Given the description of an element on the screen output the (x, y) to click on. 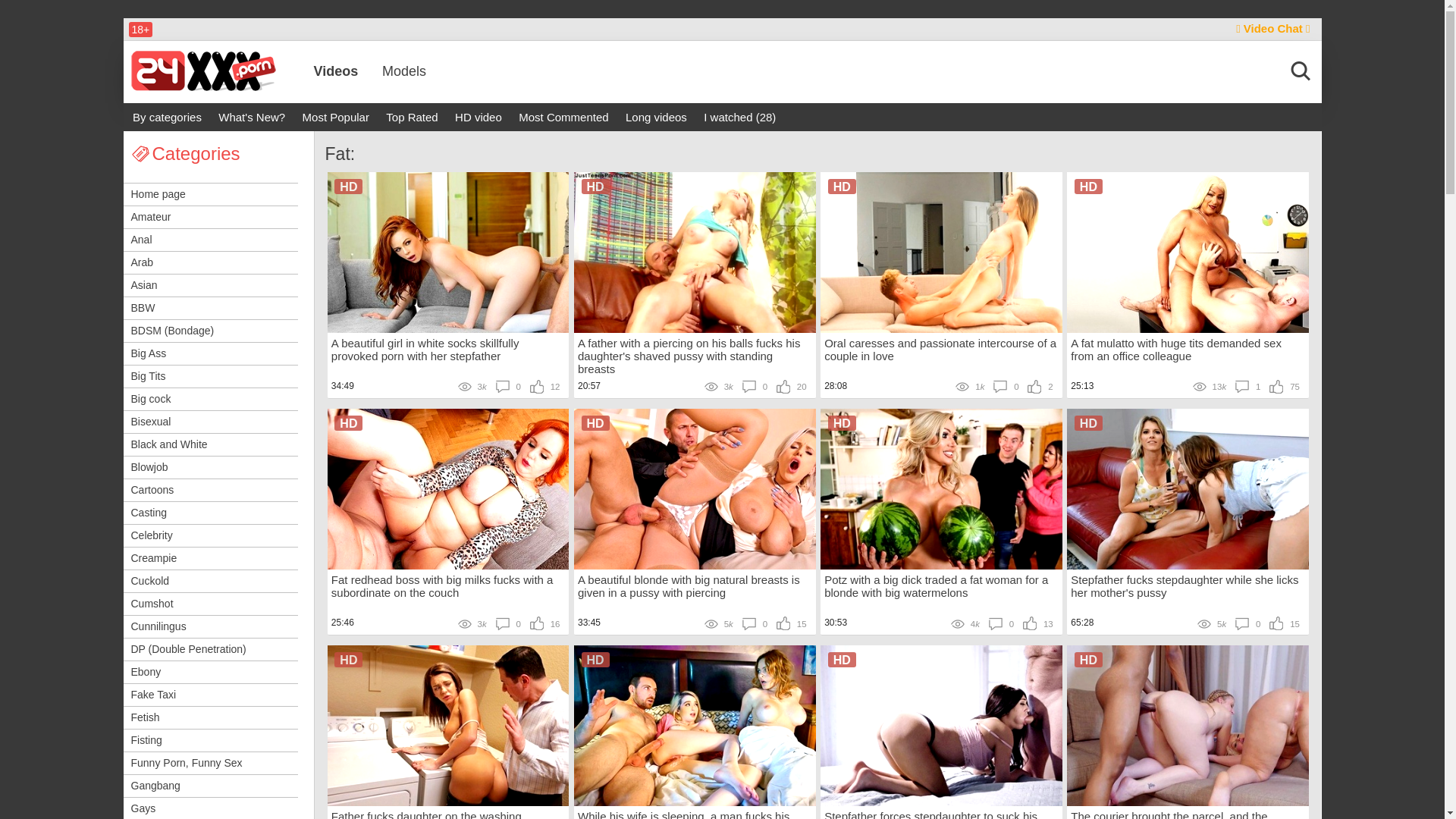
Amateur Element type: text (210, 217)
Fake Taxi Element type: text (210, 695)
By categories Element type: text (166, 117)
Long videos Element type: text (655, 117)
BBW Element type: text (210, 308)
Black and White Element type: text (210, 444)
Most Commented Element type: text (563, 117)
Home page Element type: text (210, 194)
Creampie Element type: text (210, 558)
Top Rated Element type: text (411, 117)
Anal Element type: text (210, 240)
Asian Element type: text (210, 285)
Ebony Element type: text (210, 672)
Fisting Element type: text (210, 740)
Gangbang Element type: text (210, 786)
Models Element type: text (404, 71)
Videos Element type: text (335, 71)
Oral caresses and passionate intercourse of a couple in love Element type: text (941, 356)
HD video Element type: text (478, 117)
Arab Element type: text (210, 262)
Cunnilingus Element type: text (210, 626)
Bisexual Element type: text (210, 422)
BDSM (Bondage) Element type: text (210, 331)
Fetish Element type: text (210, 717)
Cartoons Element type: text (210, 490)
Search Element type: text (924, 118)
Cuckold Element type: text (210, 581)
Funny Porn, Funny Sex Element type: text (210, 763)
Big Tits Element type: text (210, 376)
Casting Element type: text (210, 513)
What's New? Element type: text (251, 117)
Blowjob Element type: text (210, 467)
Cumshot Element type: text (210, 604)
DP (Double Penetration) Element type: text (210, 649)
Most Popular Element type: text (335, 117)
Big Ass Element type: text (210, 353)
I watched (28) Element type: text (739, 117)
Celebrity Element type: text (210, 535)
Big cock Element type: text (210, 399)
